Given the description of an element on the screen output the (x, y) to click on. 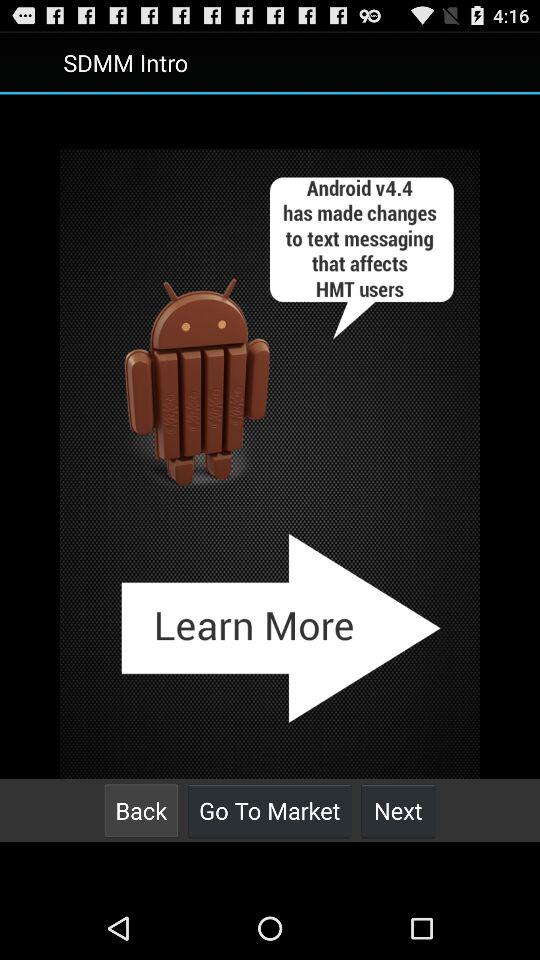
launch the icon at the center (270, 464)
